Given the description of an element on the screen output the (x, y) to click on. 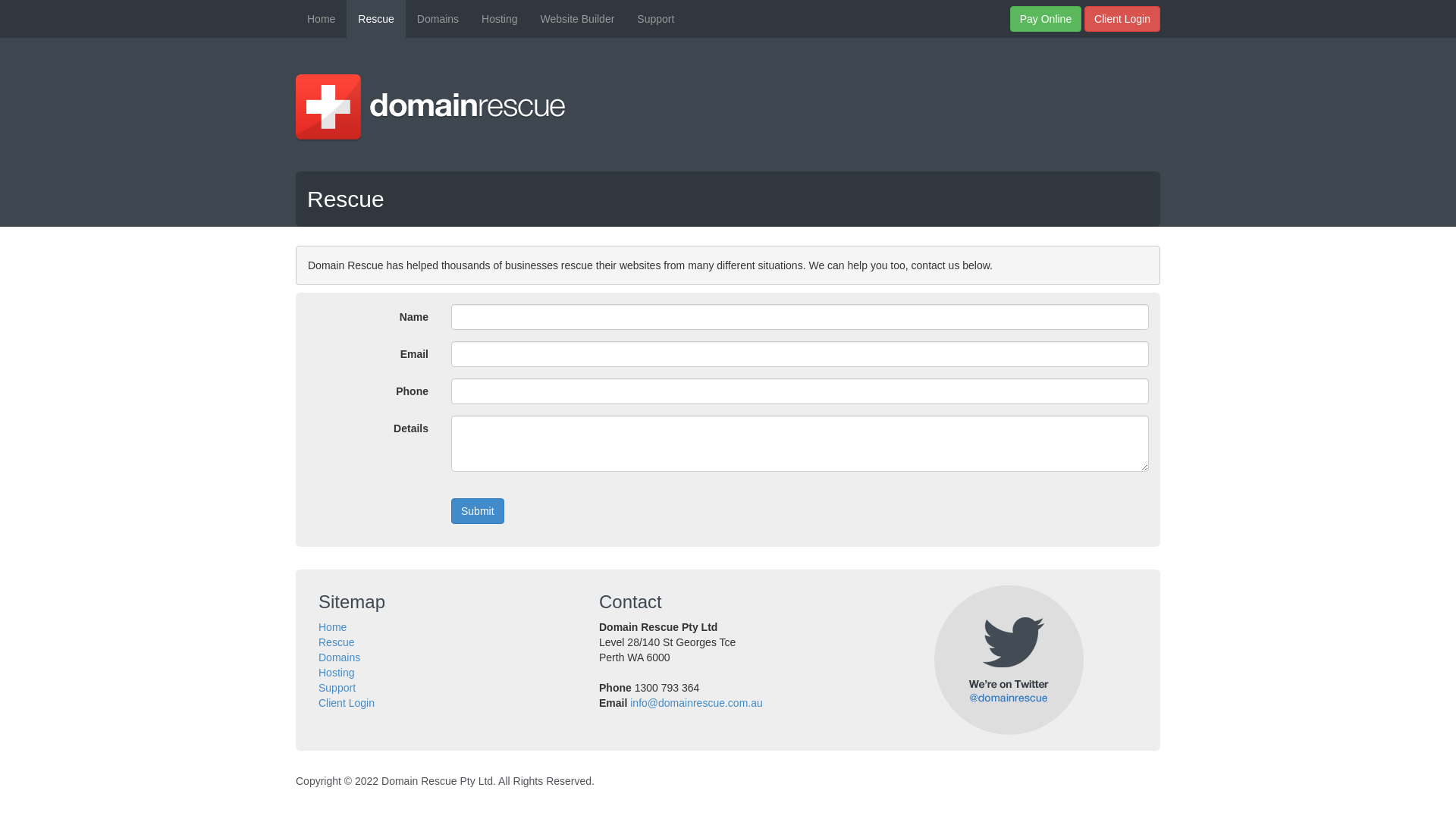
Support Element type: text (336, 687)
Rescue Element type: text (336, 642)
Domains Element type: text (339, 657)
Pay Online Element type: text (1045, 18)
Hosting Element type: text (336, 672)
Home Element type: text (332, 627)
Domains Element type: text (437, 18)
Website Builder Element type: text (577, 18)
Submit Element type: text (477, 511)
info@domainrescue.com.au Element type: text (696, 702)
Support Element type: text (655, 18)
Client Login Element type: text (1122, 18)
Home Element type: text (320, 18)
Client Login Element type: text (346, 702)
Rescue Element type: text (375, 18)
Hosting Element type: text (499, 18)
